Given the description of an element on the screen output the (x, y) to click on. 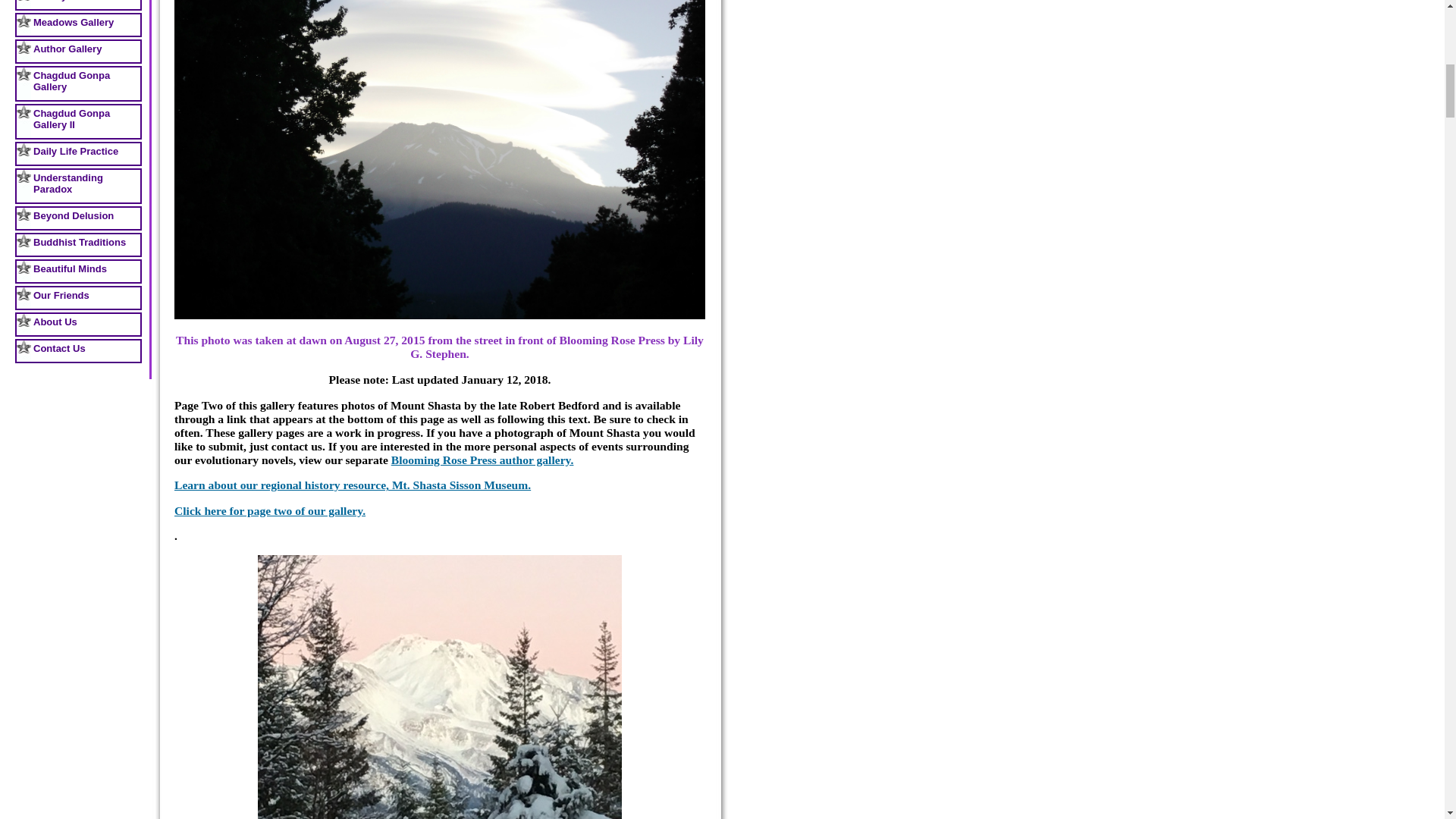
Beyond Delusion (77, 218)
Author Gallery (77, 51)
Blooming Rose Press author gallery. (482, 459)
Chagdud Gonpa Gallery (77, 83)
Gallery II (77, 5)
Buddhist Traditions (77, 244)
Understanding Paradox (77, 185)
Daily Life Practice (77, 153)
Click here for page two of our gallery. (269, 510)
